Given the description of an element on the screen output the (x, y) to click on. 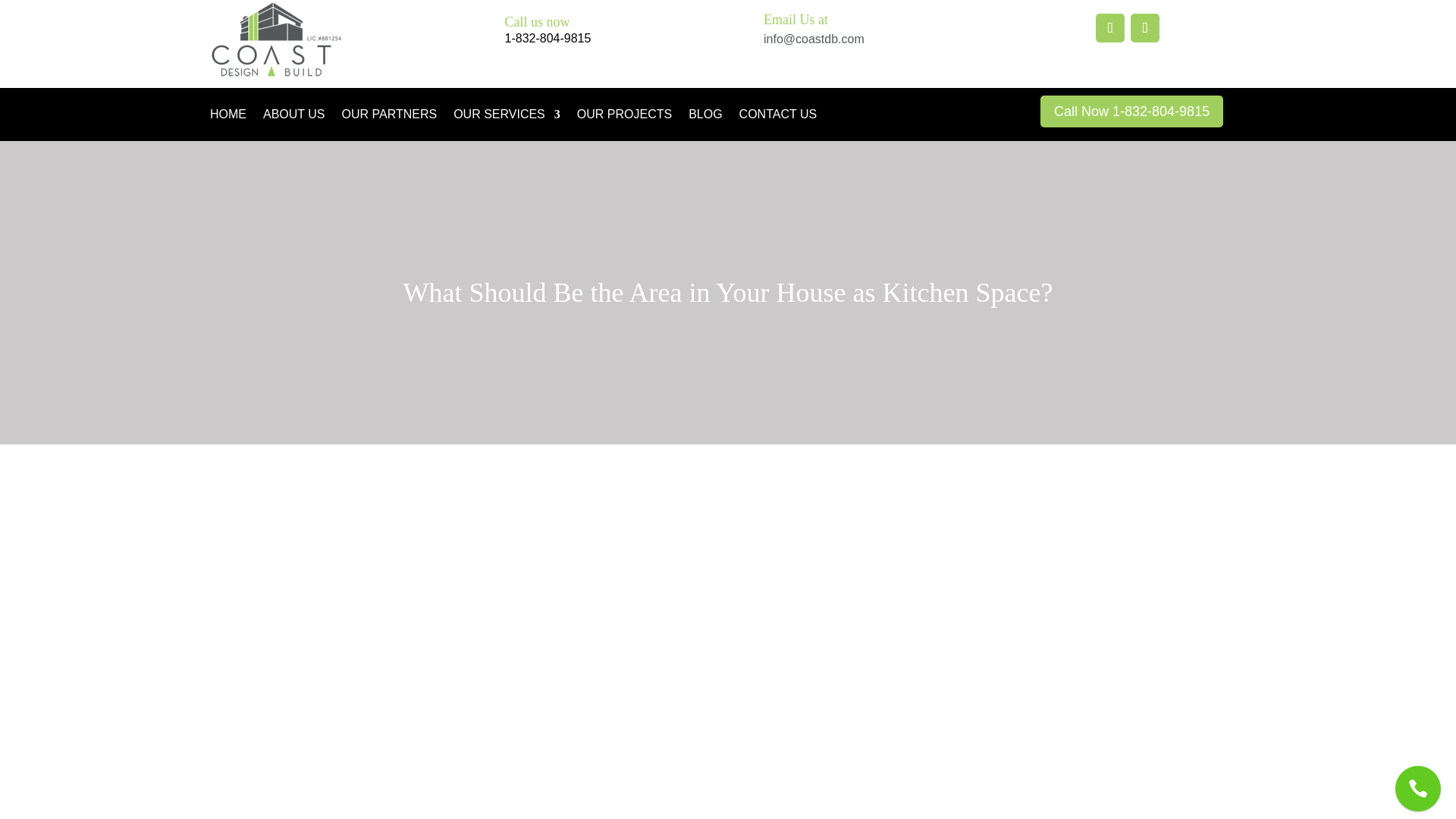
OUR PROJECTS (623, 117)
ABOUT US (293, 117)
CONTACT US (777, 117)
Call Now 1-832-804-9815 (1132, 110)
1-832-804-9815 (548, 38)
Follow on Instagram (1144, 27)
OUR PARTNERS (388, 117)
OUR SERVICES (506, 117)
Follow on Facebook (1110, 27)
Call us now (537, 21)
HOME (227, 117)
BLOG (705, 117)
